Given the description of an element on the screen output the (x, y) to click on. 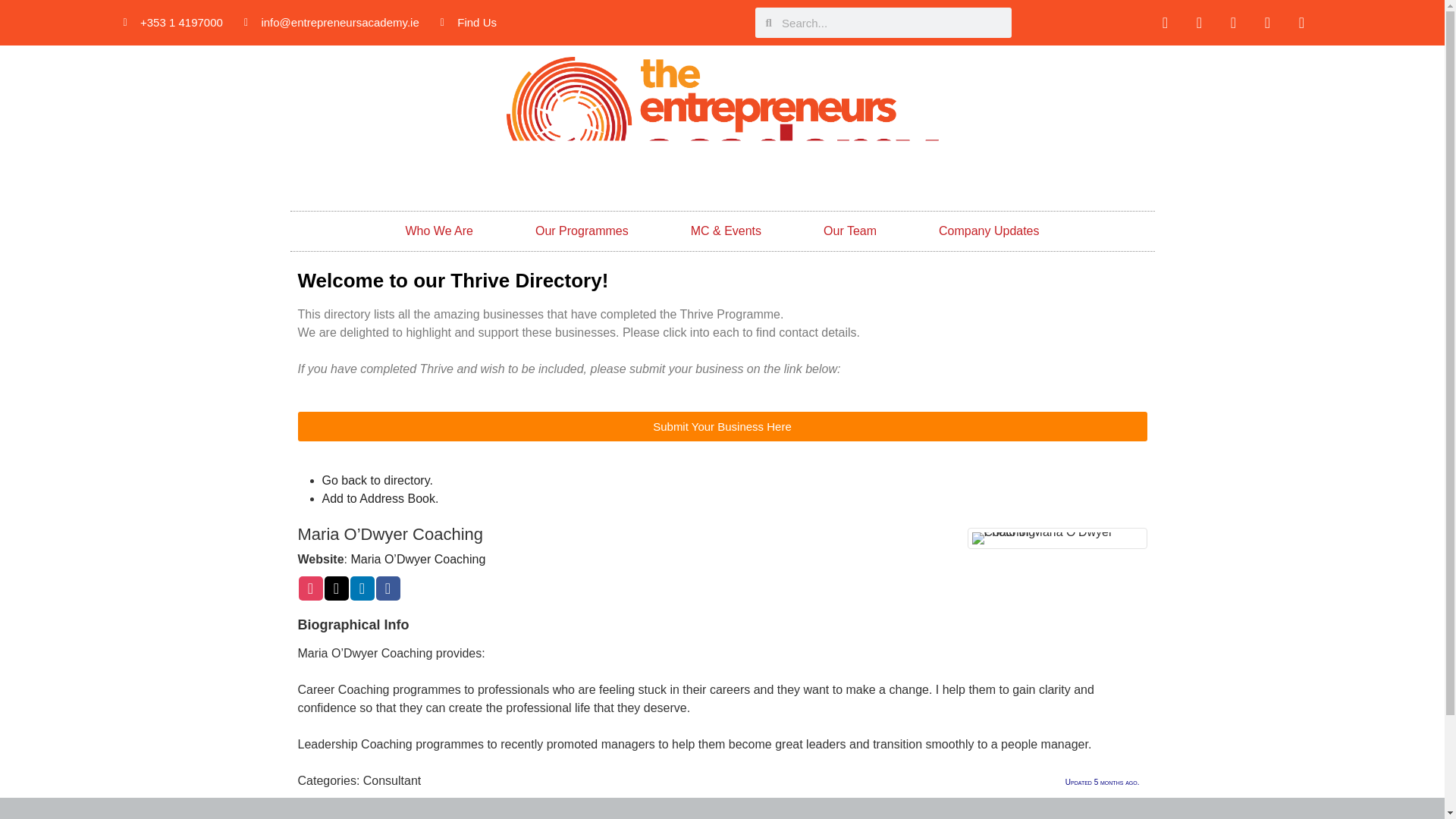
Find Us (468, 22)
Who We Are (438, 230)
Our Programmes (581, 230)
Download vCard (379, 498)
